Given the description of an element on the screen output the (x, y) to click on. 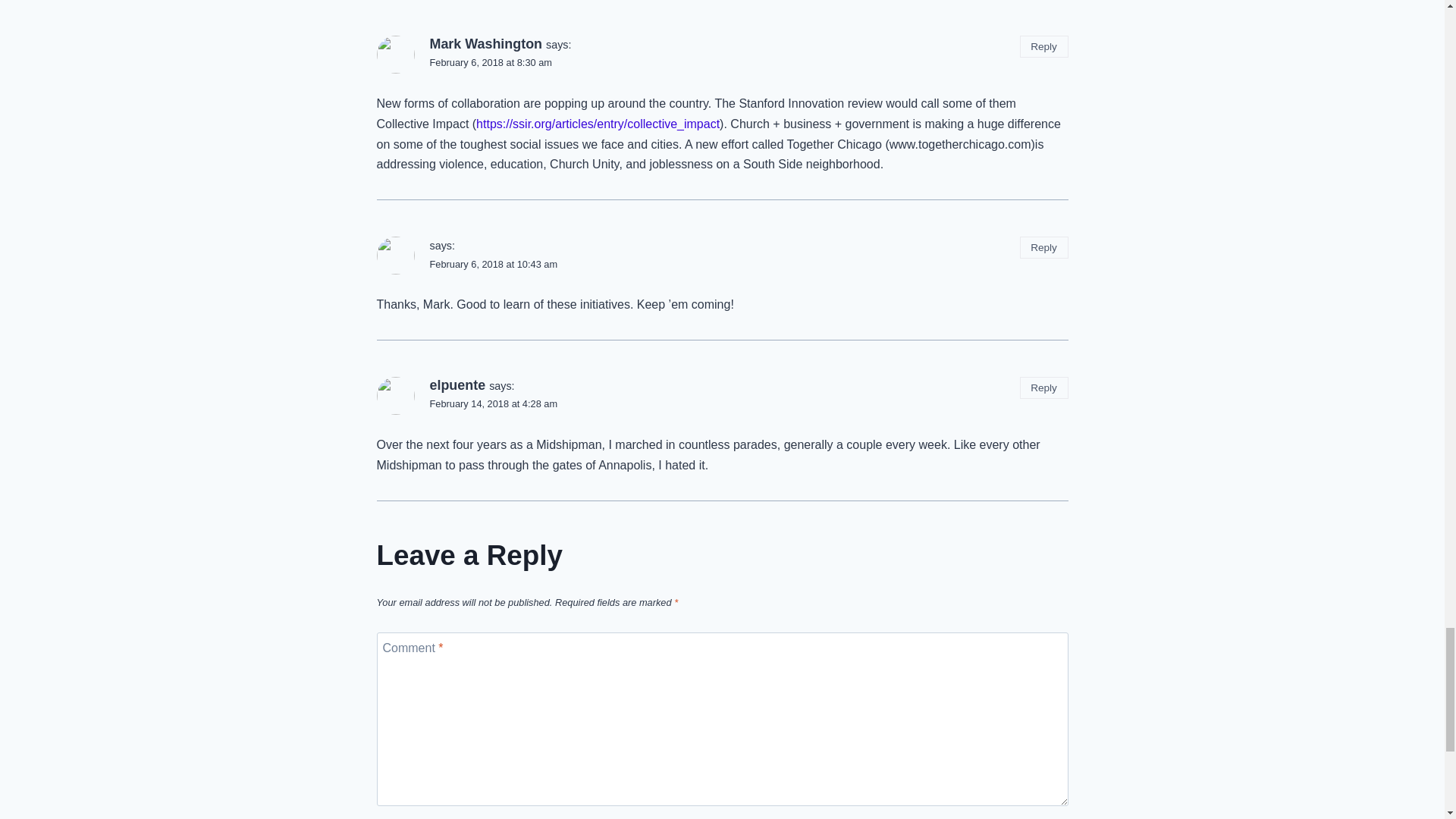
Reply (1044, 46)
February 6, 2018 at 8:30 am (490, 61)
